Given the description of an element on the screen output the (x, y) to click on. 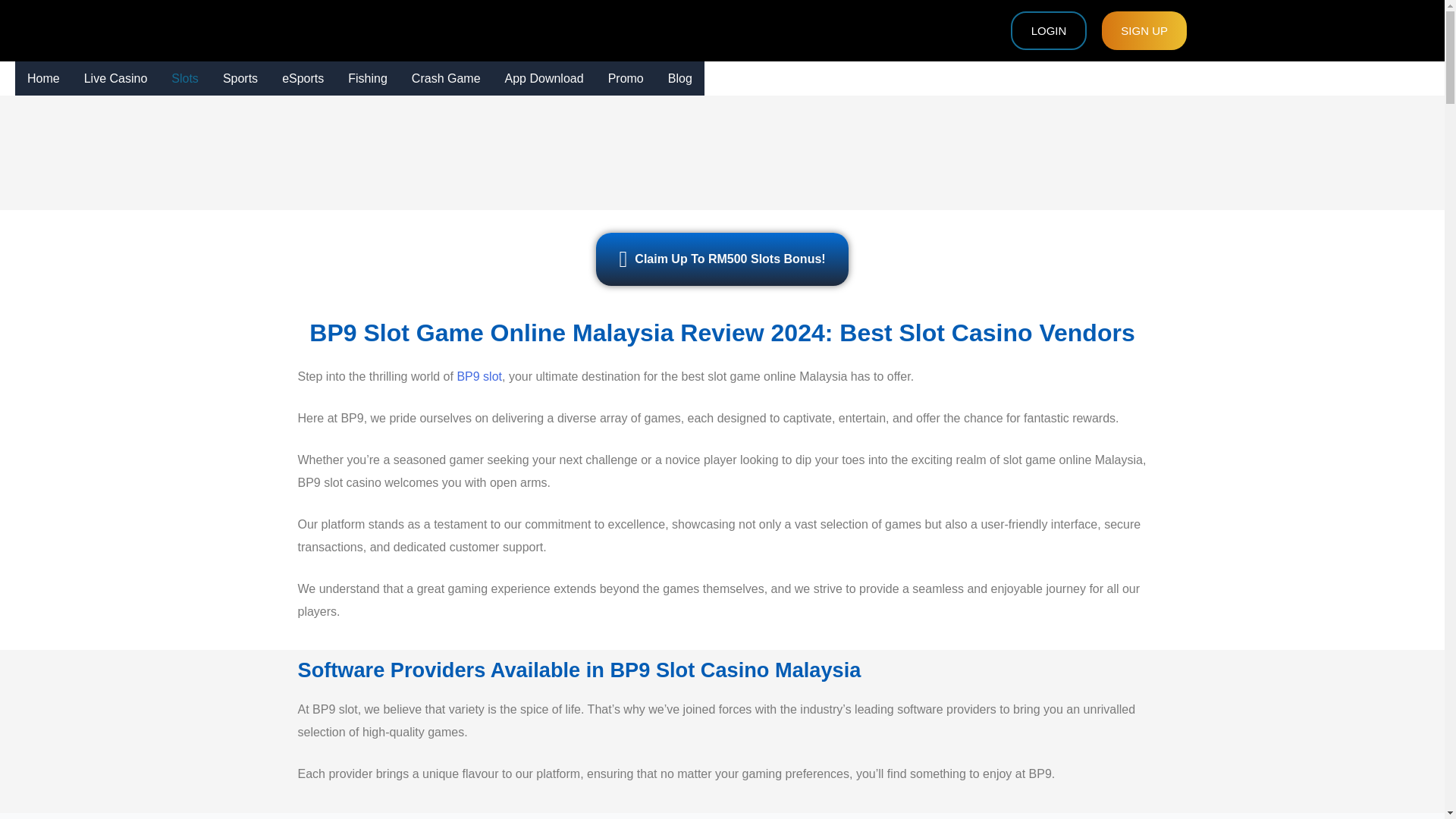
LOGIN (1048, 30)
App Download (544, 78)
Promo (625, 78)
SIGN UP (1144, 30)
Crash Game (445, 78)
Sports (240, 78)
eSports (302, 78)
Live Casino (115, 78)
Slots (184, 78)
Fishing (367, 78)
Home (42, 78)
Blog (680, 78)
